Given the description of an element on the screen output the (x, y) to click on. 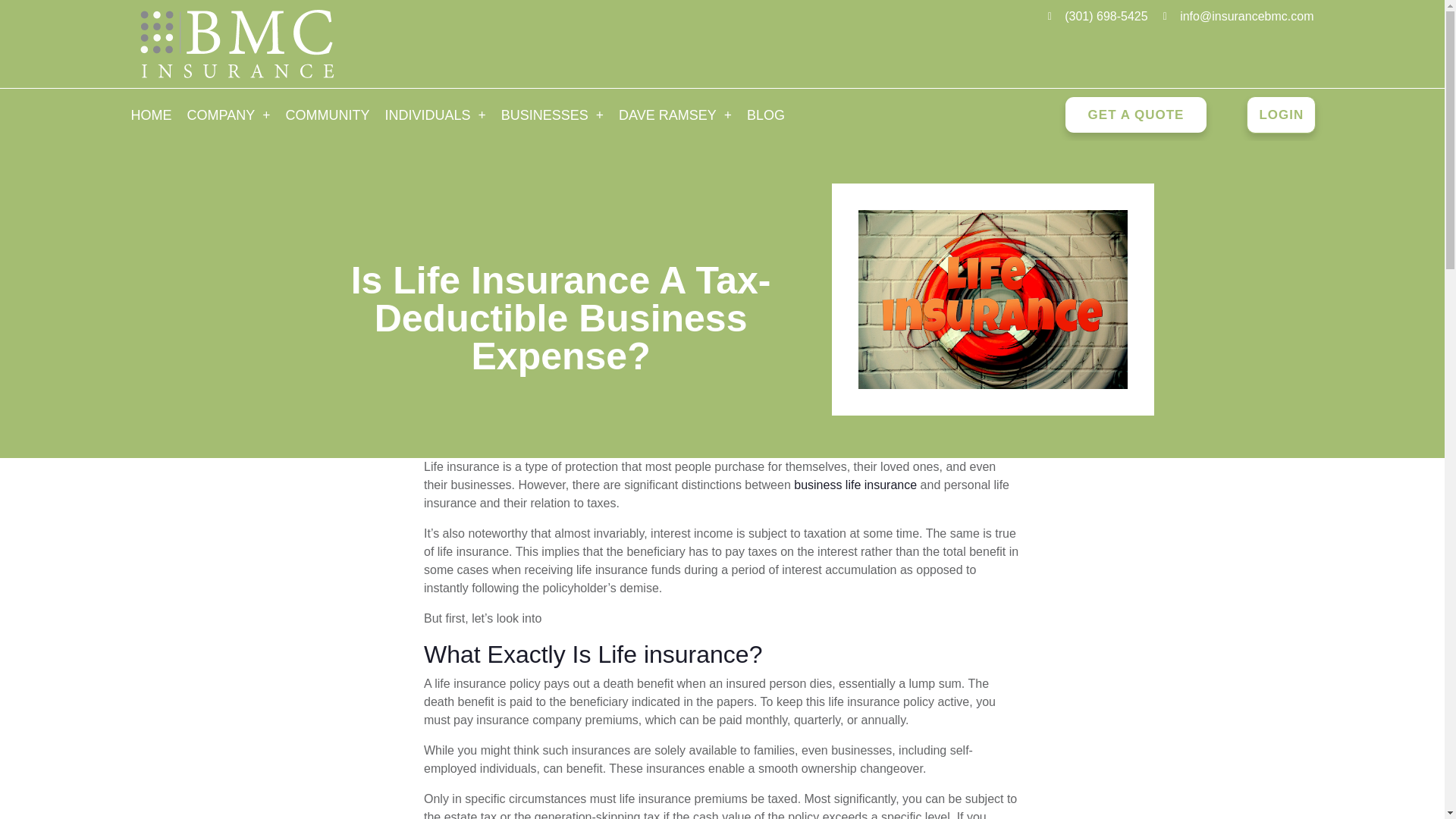
COMMUNITY (327, 115)
BLOG (765, 115)
HOME (150, 115)
COMPANY (228, 115)
DAVE RAMSEY (675, 115)
BUSINESSES (552, 115)
INDIVIDUALS (435, 115)
